Given the description of an element on the screen output the (x, y) to click on. 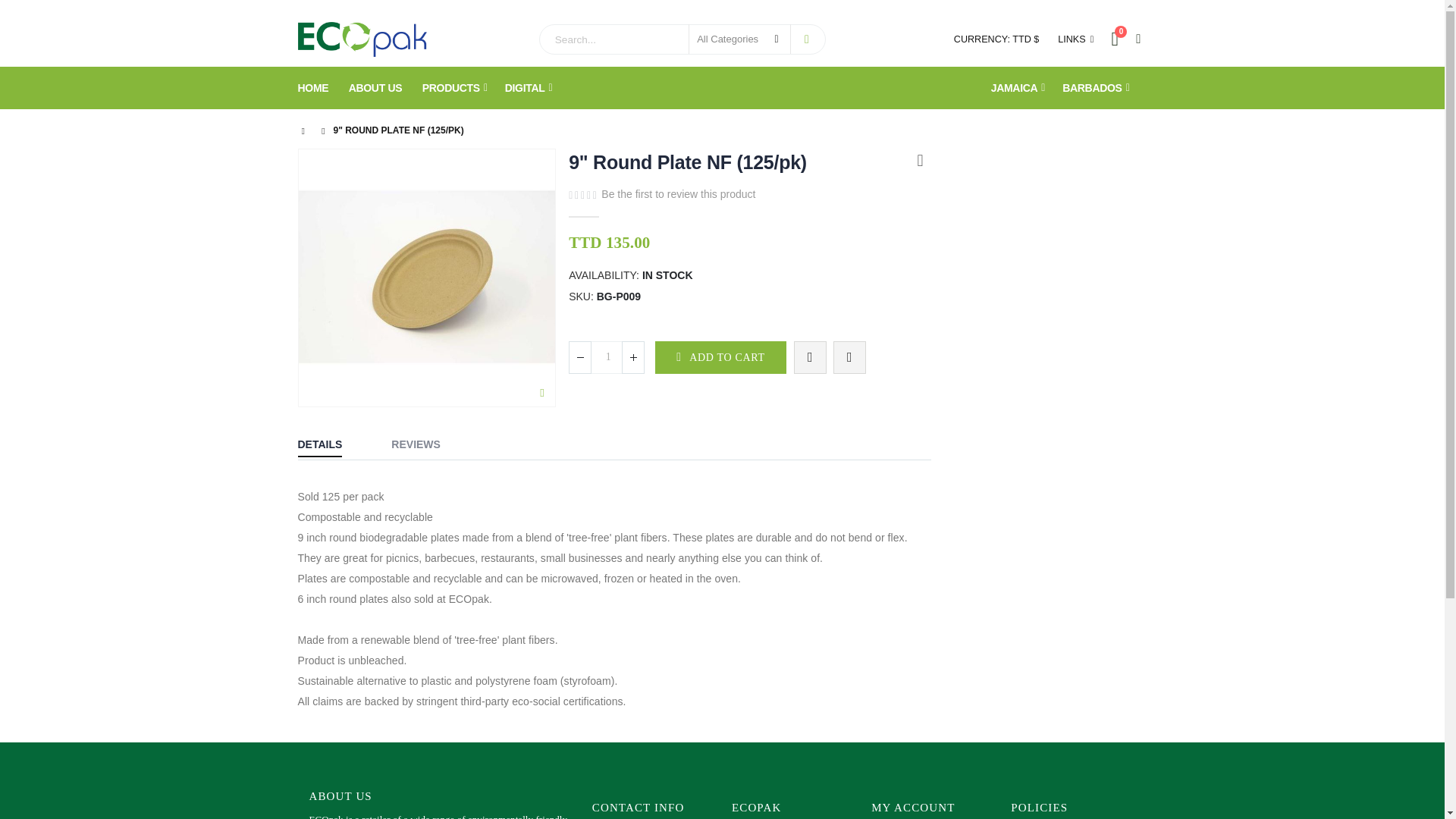
1 (607, 357)
Search (806, 39)
ECOpak (361, 39)
LINKS (1072, 39)
PRODUCTS (454, 87)
ABOUT US (1122, 39)
Products (376, 87)
